Given the description of an element on the screen output the (x, y) to click on. 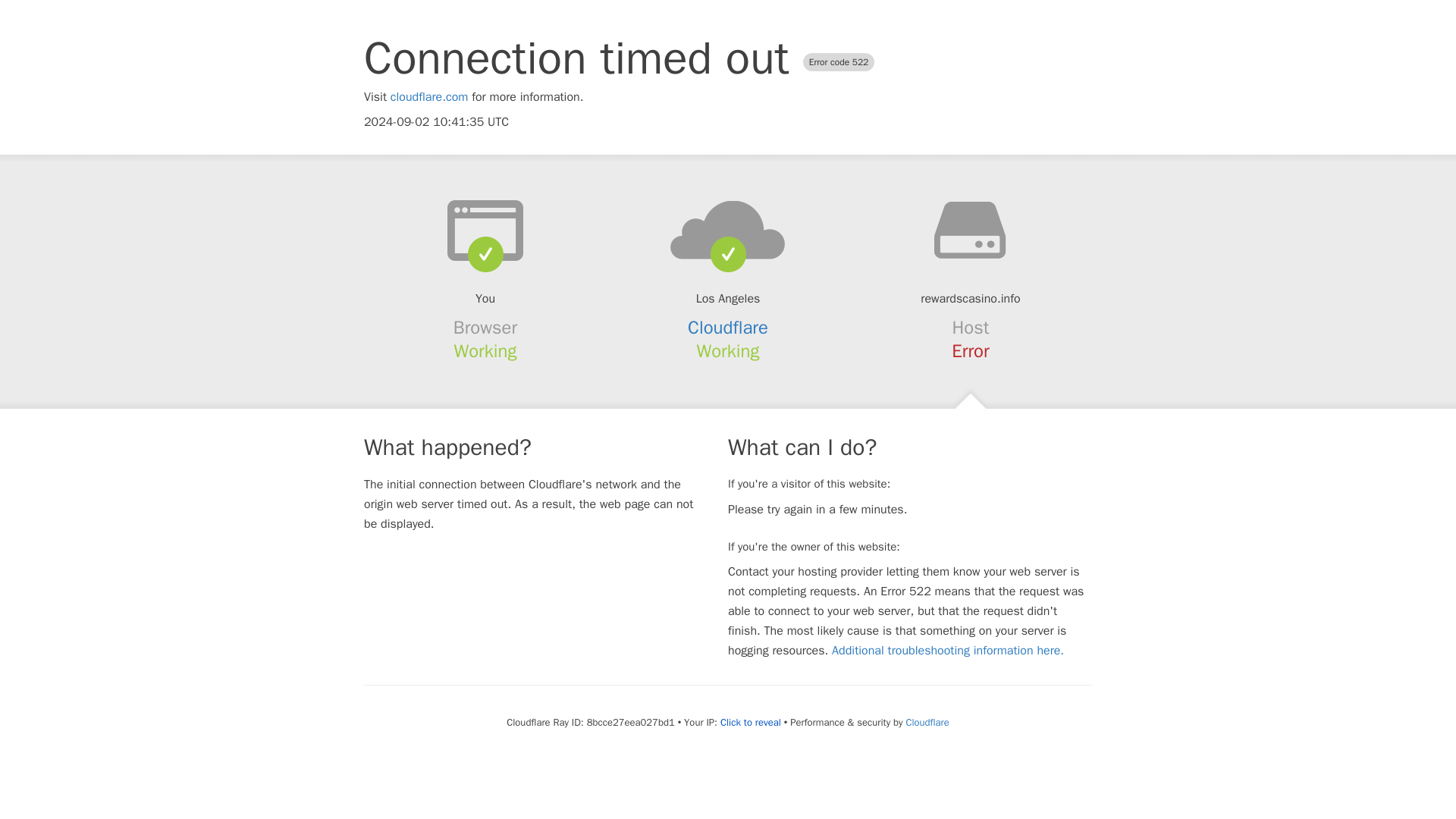
Click to reveal (750, 722)
cloudflare.com (429, 96)
Cloudflare (727, 327)
Additional troubleshooting information here. (947, 650)
Cloudflare (927, 721)
